Given the description of an element on the screen output the (x, y) to click on. 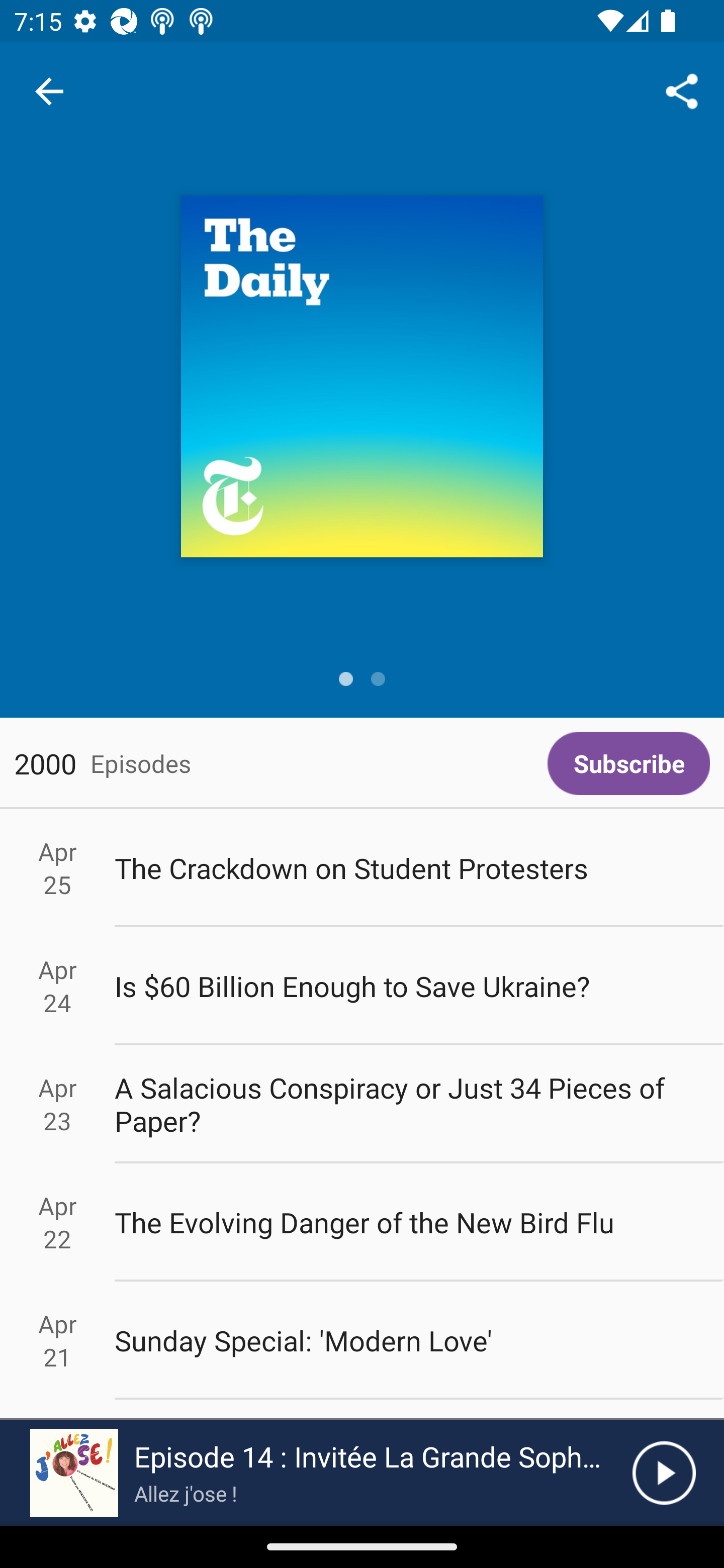
Navigate up (49, 91)
Share... (681, 90)
Subscribe (628, 763)
Apr 25 The Crackdown on Student Protesters (362, 867)
Apr 24 Is $60 Billion Enough to Save Ukraine? (362, 985)
Apr 22 The Evolving Danger of the New Bird Flu (362, 1222)
Apr 21 Sunday Special: 'Modern Love' (362, 1340)
Play (663, 1472)
